Given the description of an element on the screen output the (x, y) to click on. 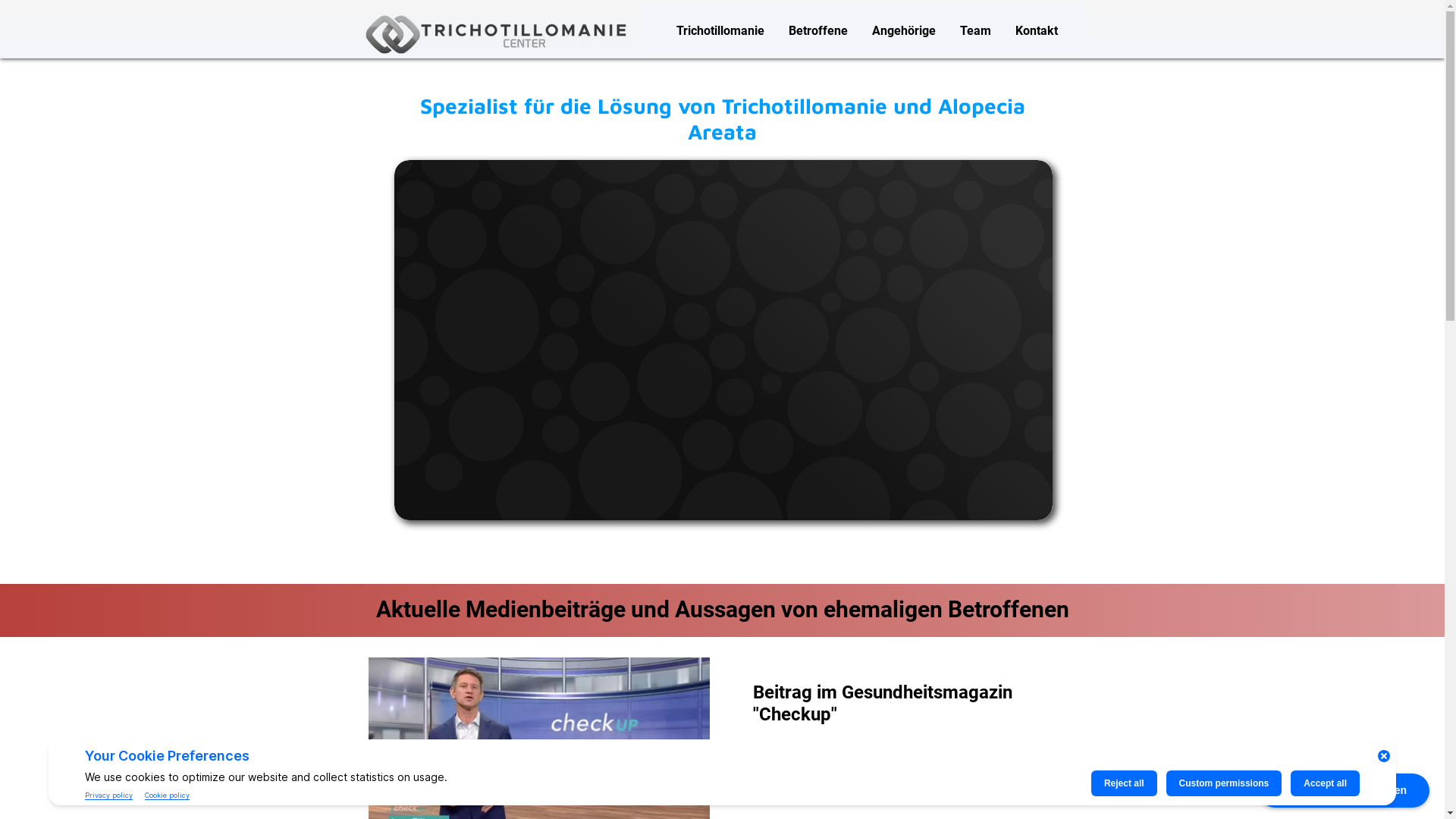
Trichotillomanie Element type: text (720, 30)
Betroffene Element type: text (817, 30)
Team Element type: text (975, 30)
Kontakt Element type: text (1035, 30)
